Given the description of an element on the screen output the (x, y) to click on. 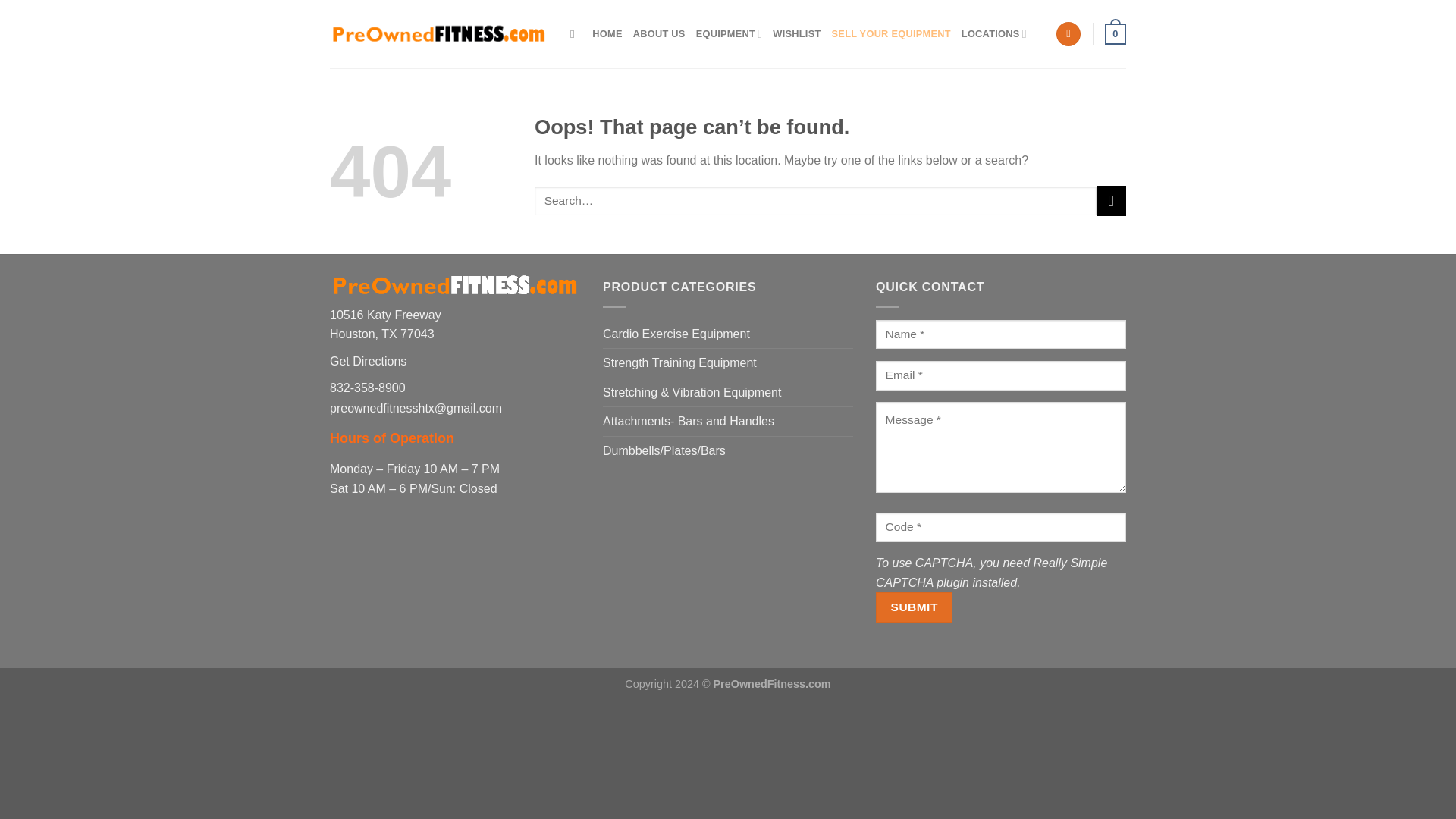
EQUIPMENT (728, 33)
Submit (914, 606)
ABOUT US (659, 33)
HOME (606, 33)
WISHLIST (797, 33)
SELL YOUR EQUIPMENT (890, 33)
Preowned Fitness - Used exercise equipment in Houston TX (438, 33)
LOCATIONS (993, 33)
